Given the description of an element on the screen output the (x, y) to click on. 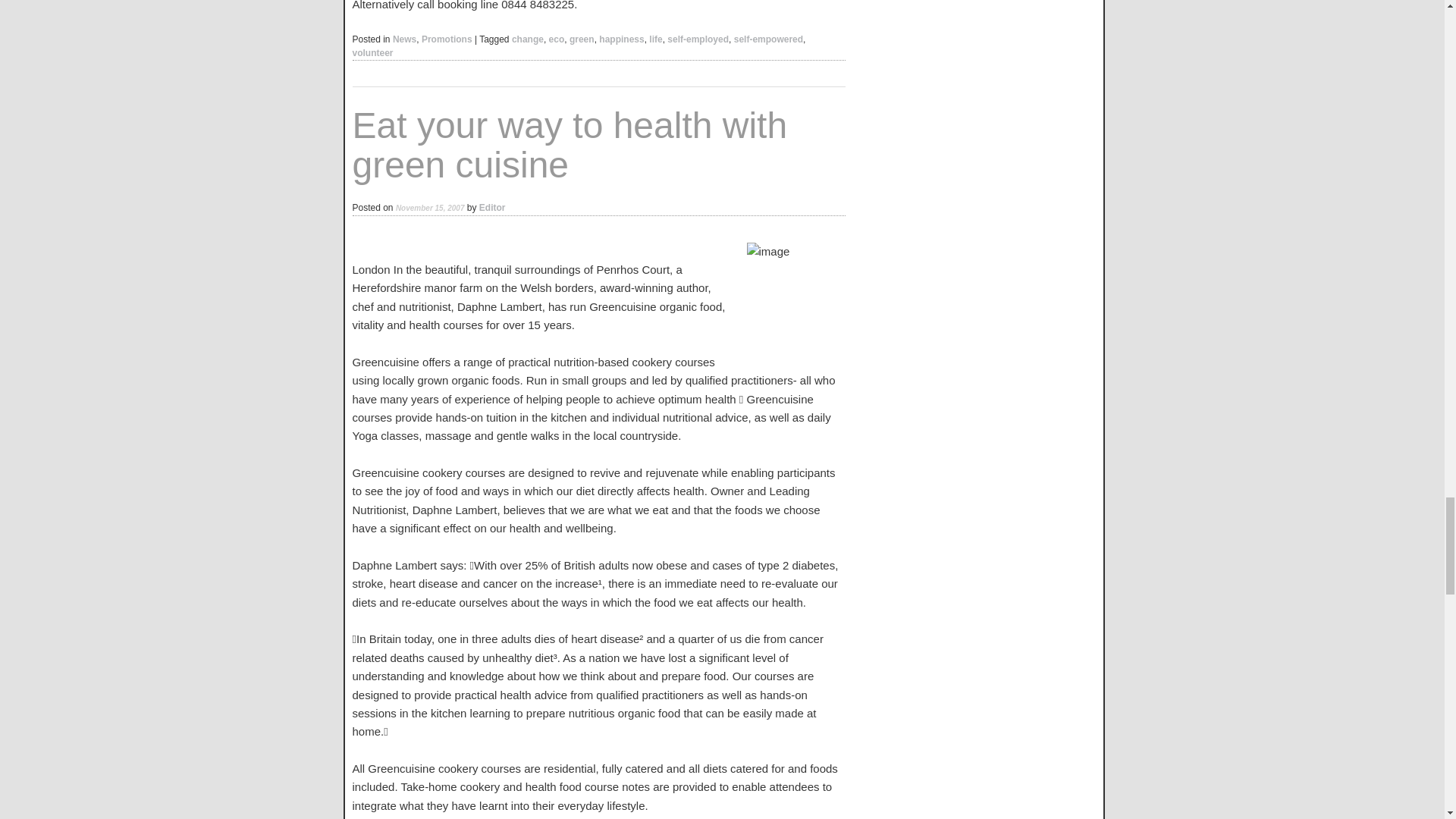
View all posts by Editor (492, 207)
Permalink to Eat your way to health with green cuisine (569, 145)
2:40 pm (430, 207)
